Given the description of an element on the screen output the (x, y) to click on. 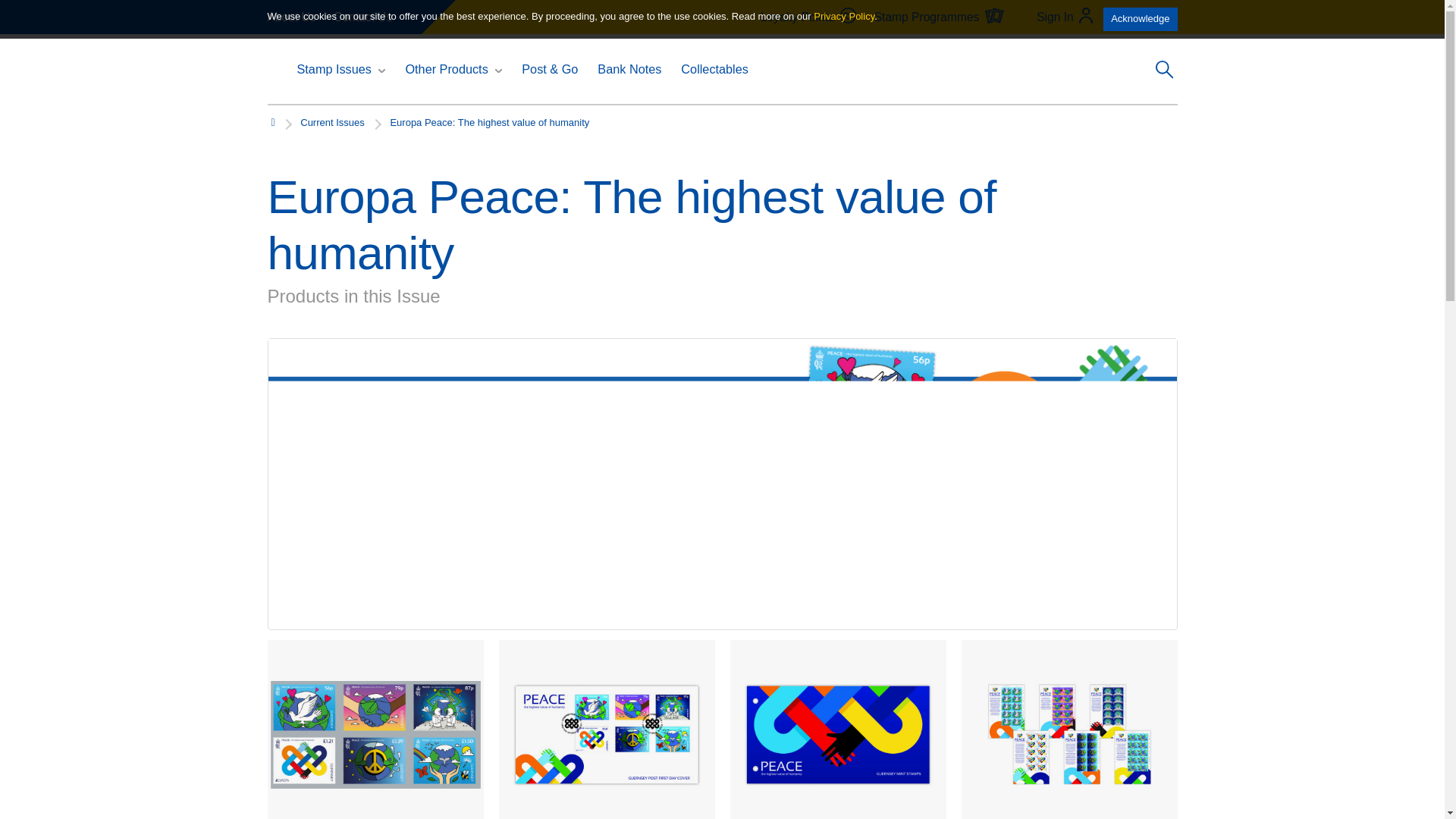
Bank Notes (628, 69)
Collectables (714, 69)
Basket 0 (1142, 16)
Stamp Issues (334, 69)
Other Products (445, 69)
Sign In (1065, 16)
Stamp Programmes (940, 16)
Contact Us (362, 16)
